Given the description of an element on the screen output the (x, y) to click on. 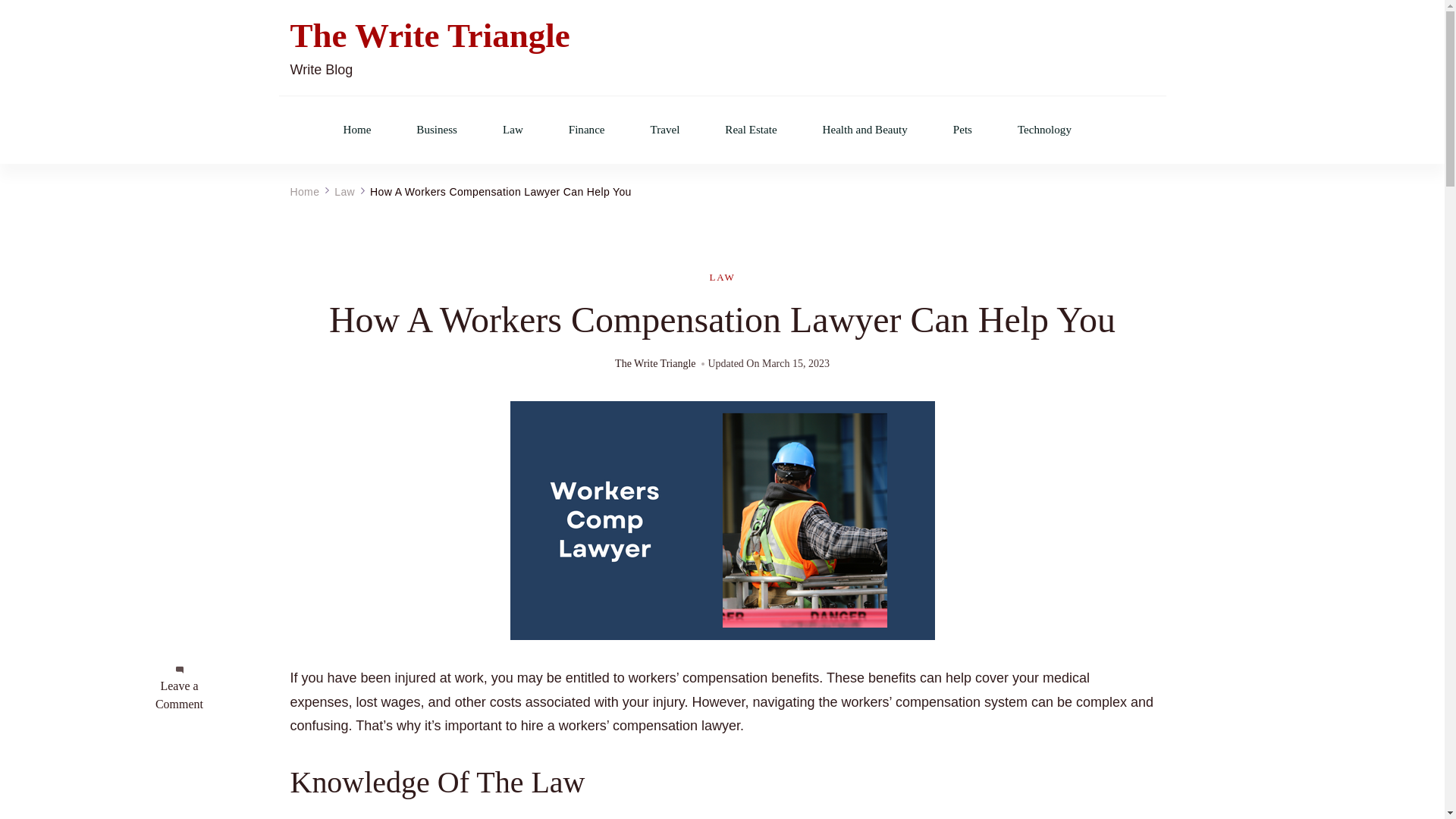
Law (512, 129)
Pets (962, 129)
The Write Triangle (429, 35)
Home (356, 129)
The Write Triangle (654, 363)
Technology (1044, 129)
Health and Beauty (864, 129)
Finance (587, 129)
LAW (722, 276)
Home (303, 191)
